Given the description of an element on the screen output the (x, y) to click on. 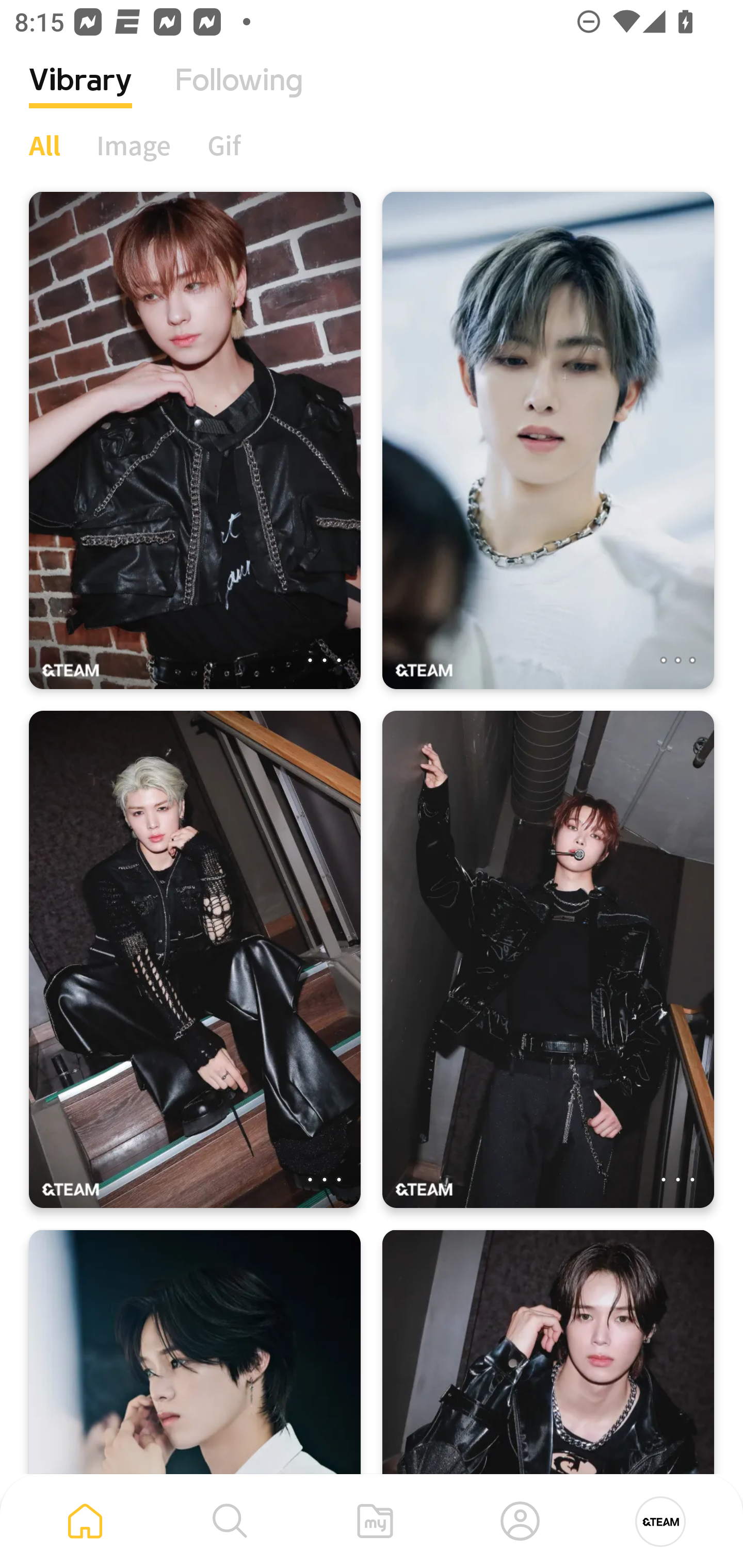
Vibrary (80, 95)
Following (239, 95)
All (44, 145)
Image (133, 145)
Gif (223, 145)
